Given the description of an element on the screen output the (x, y) to click on. 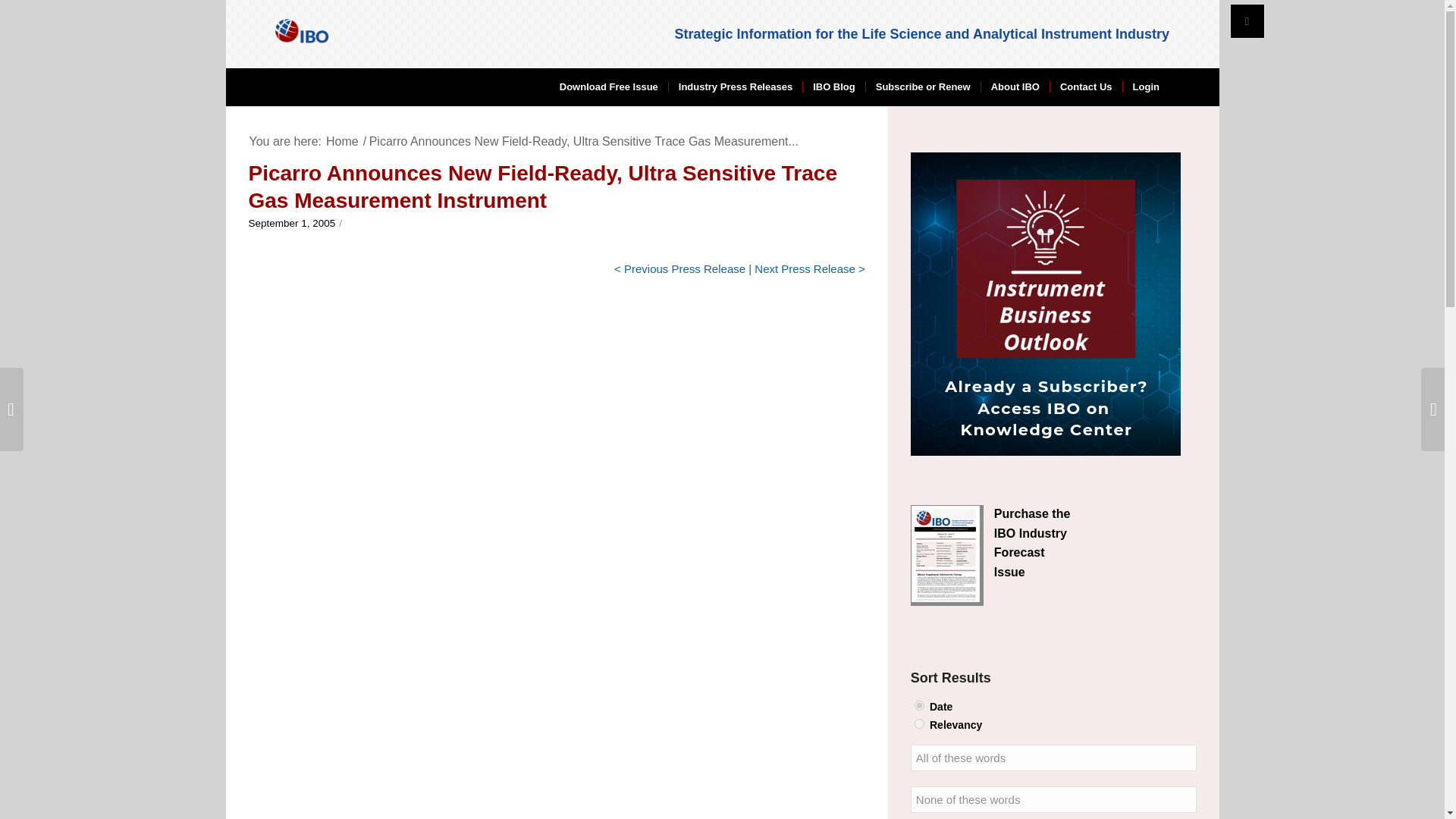
Industry Press Releases (735, 86)
relevancy (919, 723)
Home (342, 141)
IBO (342, 141)
relevancy (919, 723)
date (919, 705)
Previous Press Release (684, 268)
Subscribe or Renew (921, 86)
IBO Blog (833, 86)
Next Press Release (805, 268)
